Given the description of an element on the screen output the (x, y) to click on. 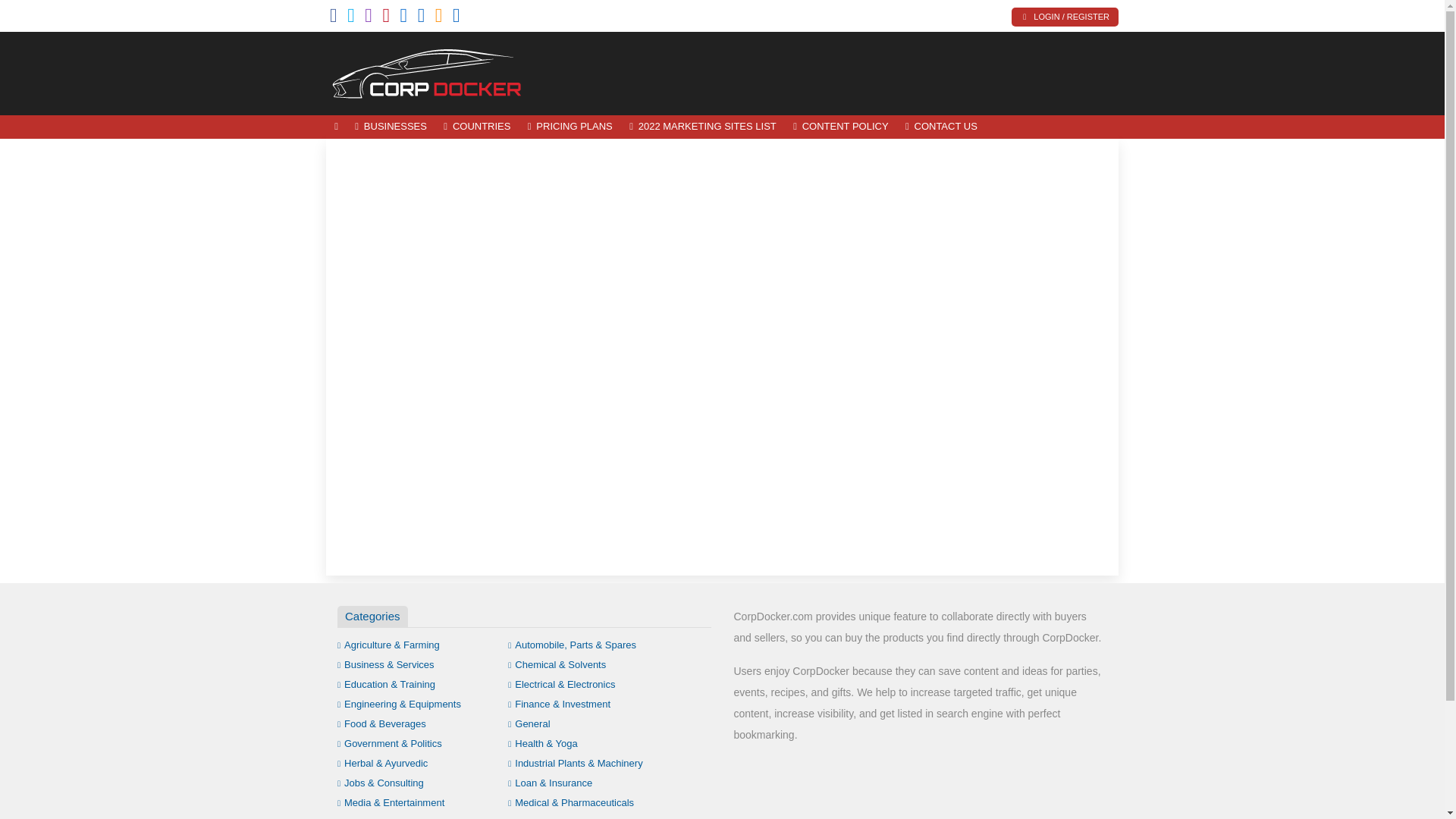
COUNTRIES (476, 126)
PRICING PLANS (570, 126)
CONTACT US (940, 126)
BUSINESSES (390, 126)
CONTENT POLICY (840, 126)
General (529, 723)
2022 MARKETING SITES LIST (702, 126)
